Given the description of an element on the screen output the (x, y) to click on. 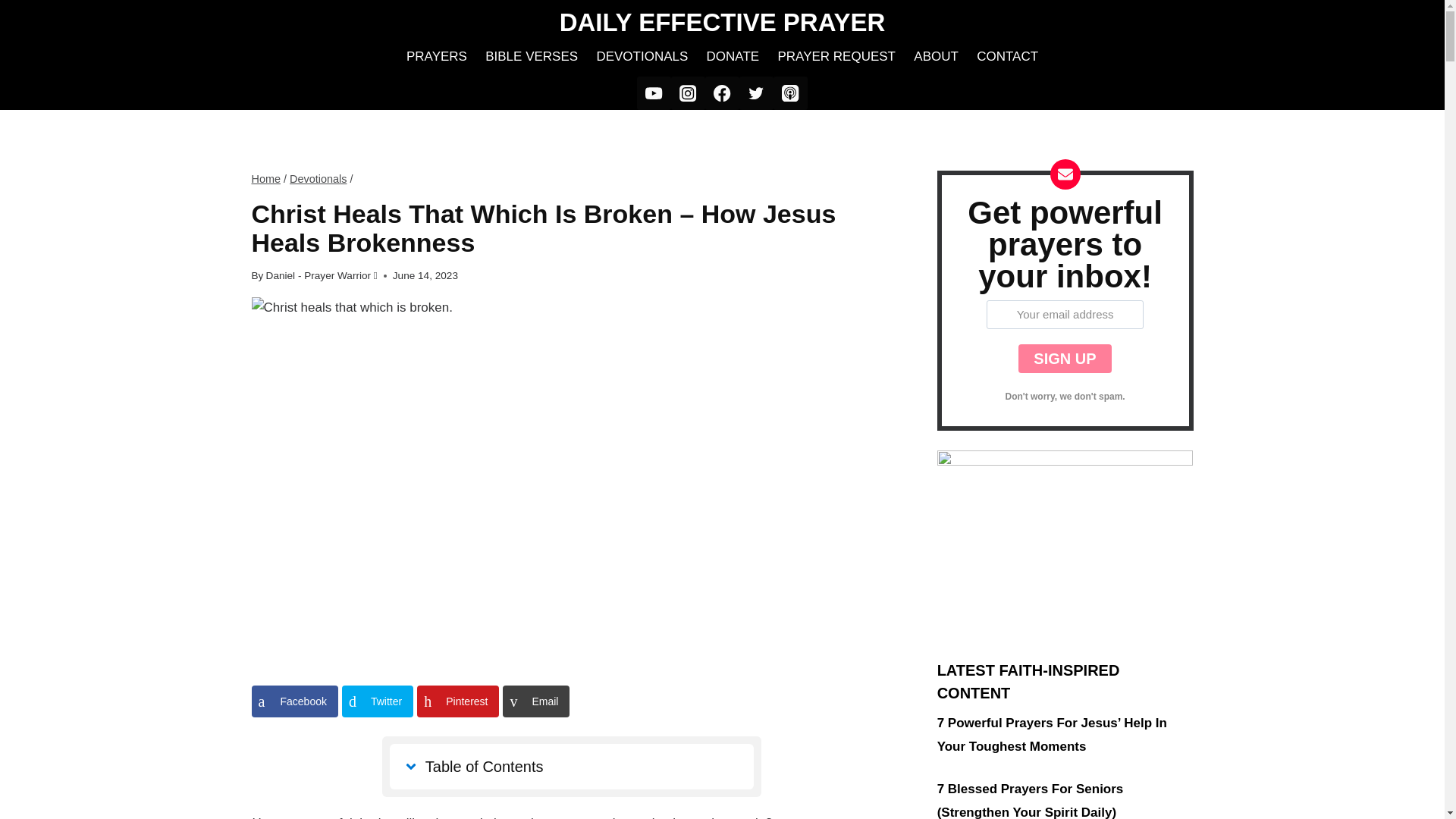
BIBLE VERSES (531, 55)
Facebook (294, 701)
Share on Facebook (294, 701)
Share on Pinterest (457, 701)
Share on Email (535, 701)
Twitter (377, 701)
Devotionals (317, 178)
PRAYERS (436, 55)
ABOUT (936, 55)
Email (535, 701)
Pinterest (457, 701)
DONATE (732, 55)
Table of Contents (571, 766)
PRAYER REQUEST (836, 55)
CONTACT (1007, 55)
